Given the description of an element on the screen output the (x, y) to click on. 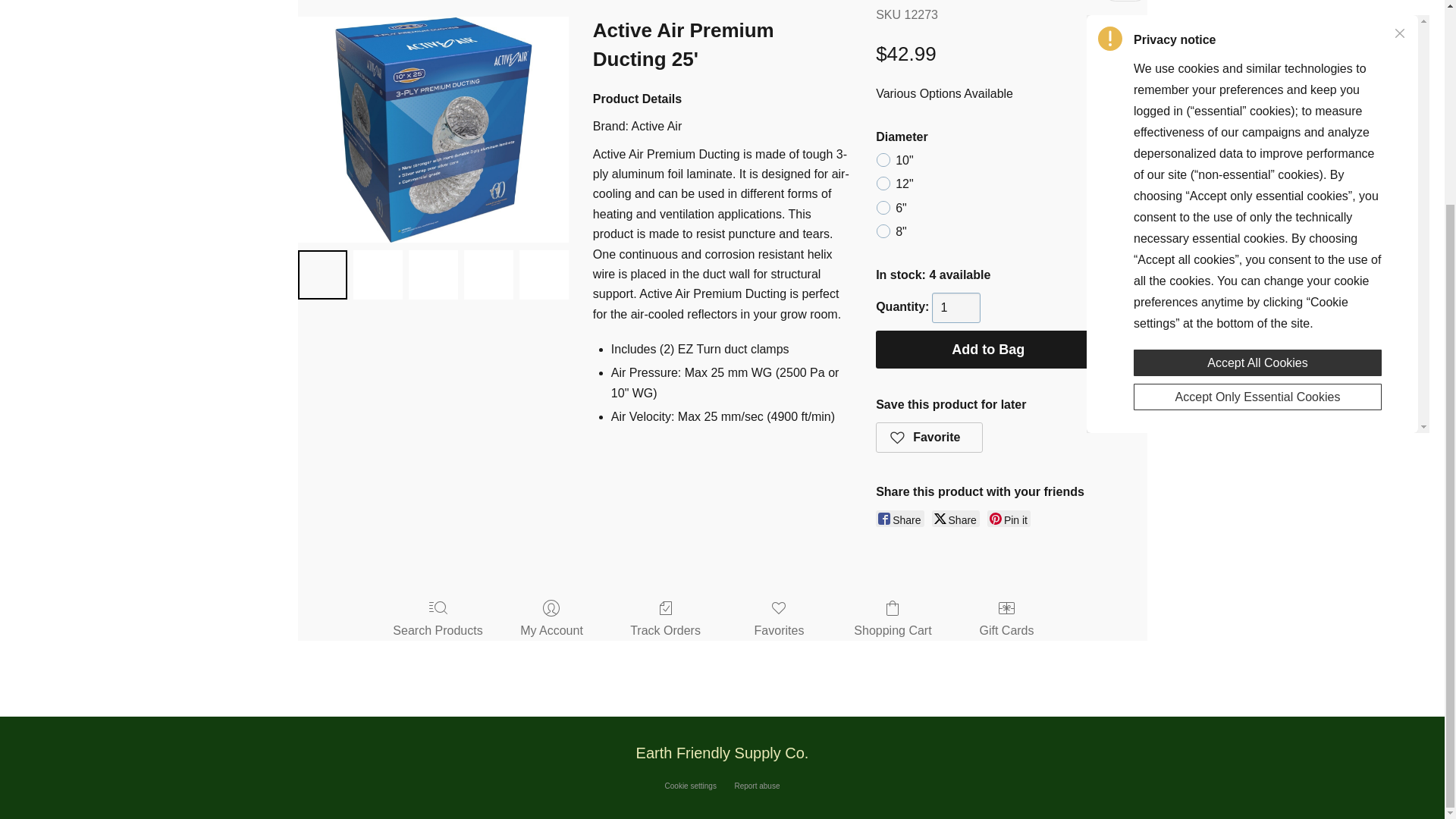
Add to Bag (988, 349)
Accept Only Essential Cookies (1257, 133)
Share (899, 518)
Share (955, 518)
Active Air Premium Ducting 25' (432, 129)
Pin it (1008, 518)
Favorite (929, 437)
Accept All Cookies (1257, 99)
